Given the description of an element on the screen output the (x, y) to click on. 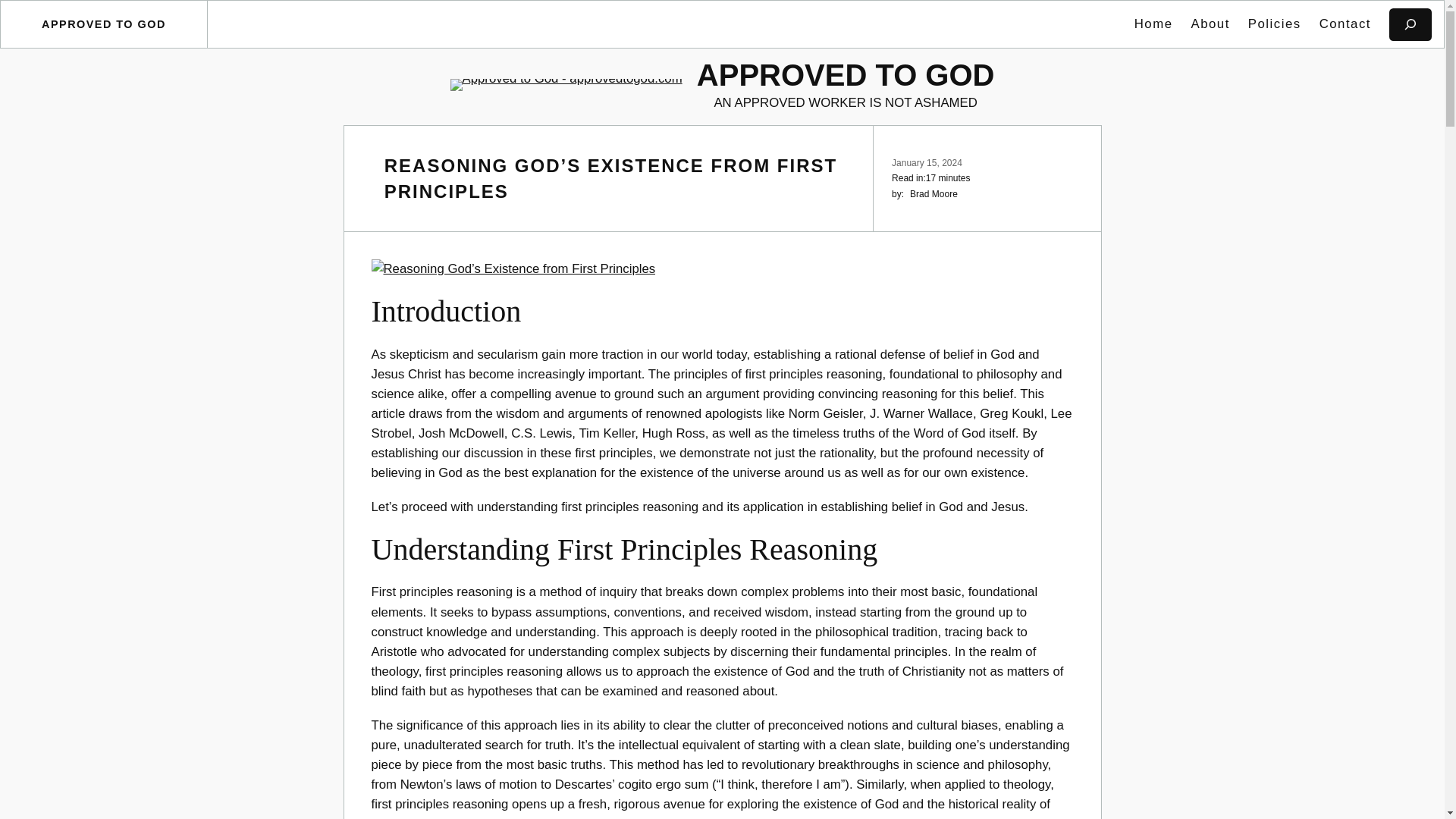
APPROVED TO GOD (103, 24)
Home (1153, 24)
Contact (1345, 24)
About (1209, 24)
Brad Moore (934, 194)
Policies (1274, 24)
